Given the description of an element on the screen output the (x, y) to click on. 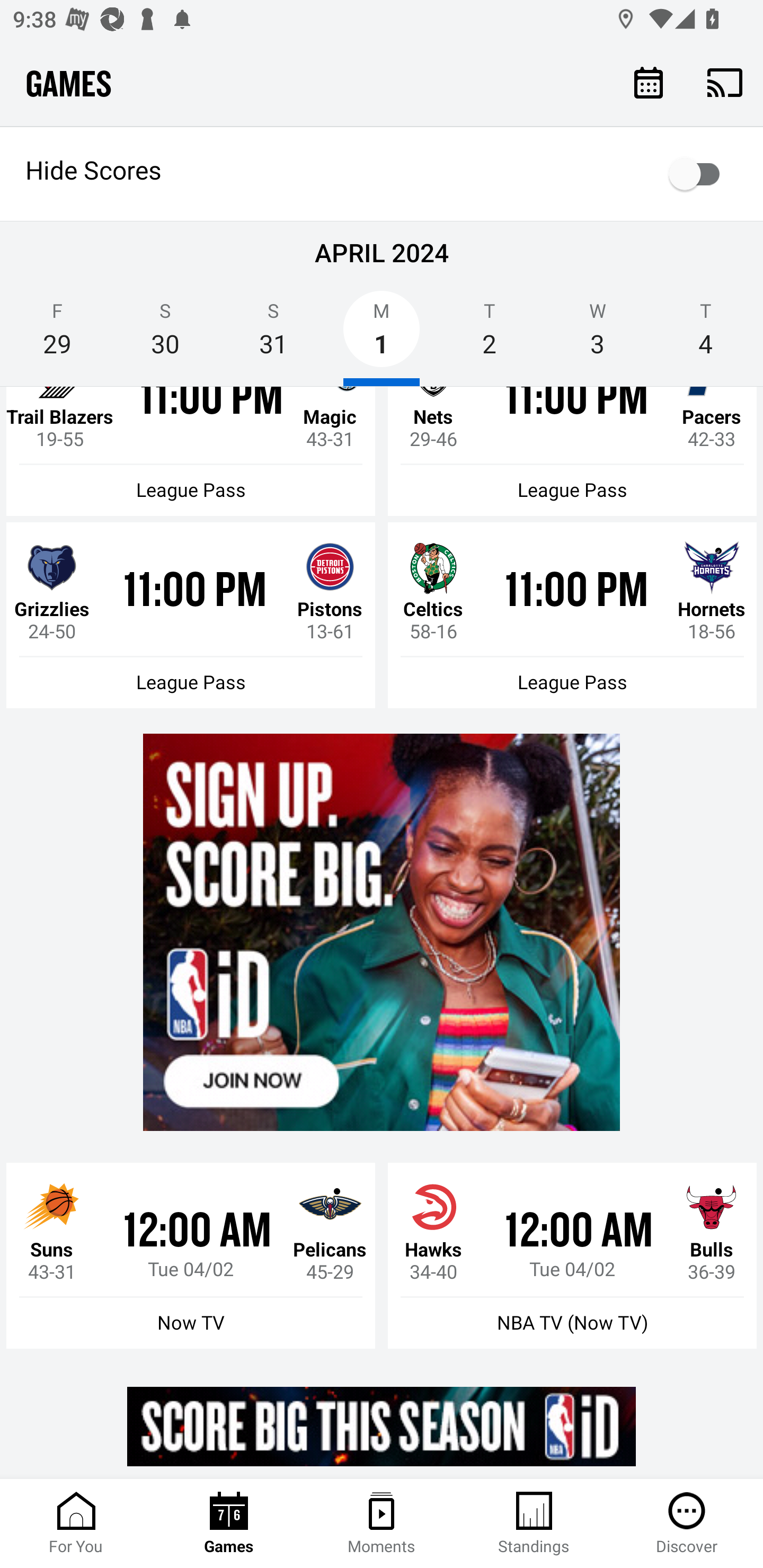
Cast. Disconnected (724, 82)
Calendar (648, 81)
Hide Scores (381, 174)
F 29 (57, 334)
S 30 (165, 334)
S 31 (273, 334)
M 1 (381, 334)
T 2 (489, 334)
W 3 (597, 334)
T 4 (705, 334)
Grizzlies 24-50 11:00 PM Pistons 13-61 League Pass (190, 615)
Celtics 58-16 11:00 PM Hornets 18-56 League Pass (571, 615)
g5nqqygr7owph (381, 931)
g5nqqygr7owph (381, 1426)
For You (76, 1523)
Moments (381, 1523)
Standings (533, 1523)
Discover (686, 1523)
